Given the description of an element on the screen output the (x, y) to click on. 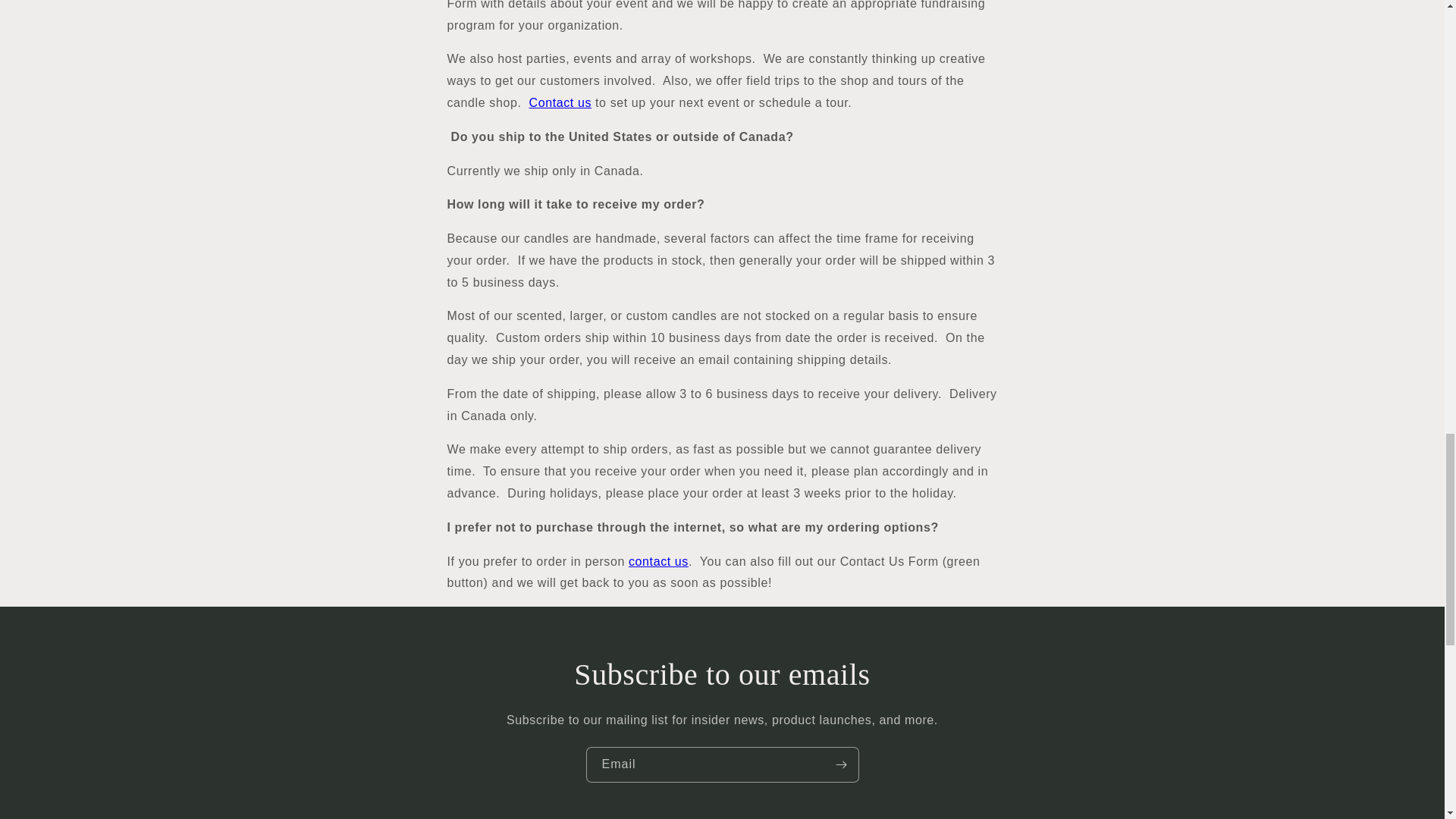
Contact us (560, 102)
contact us (658, 561)
